Given the description of an element on the screen output the (x, y) to click on. 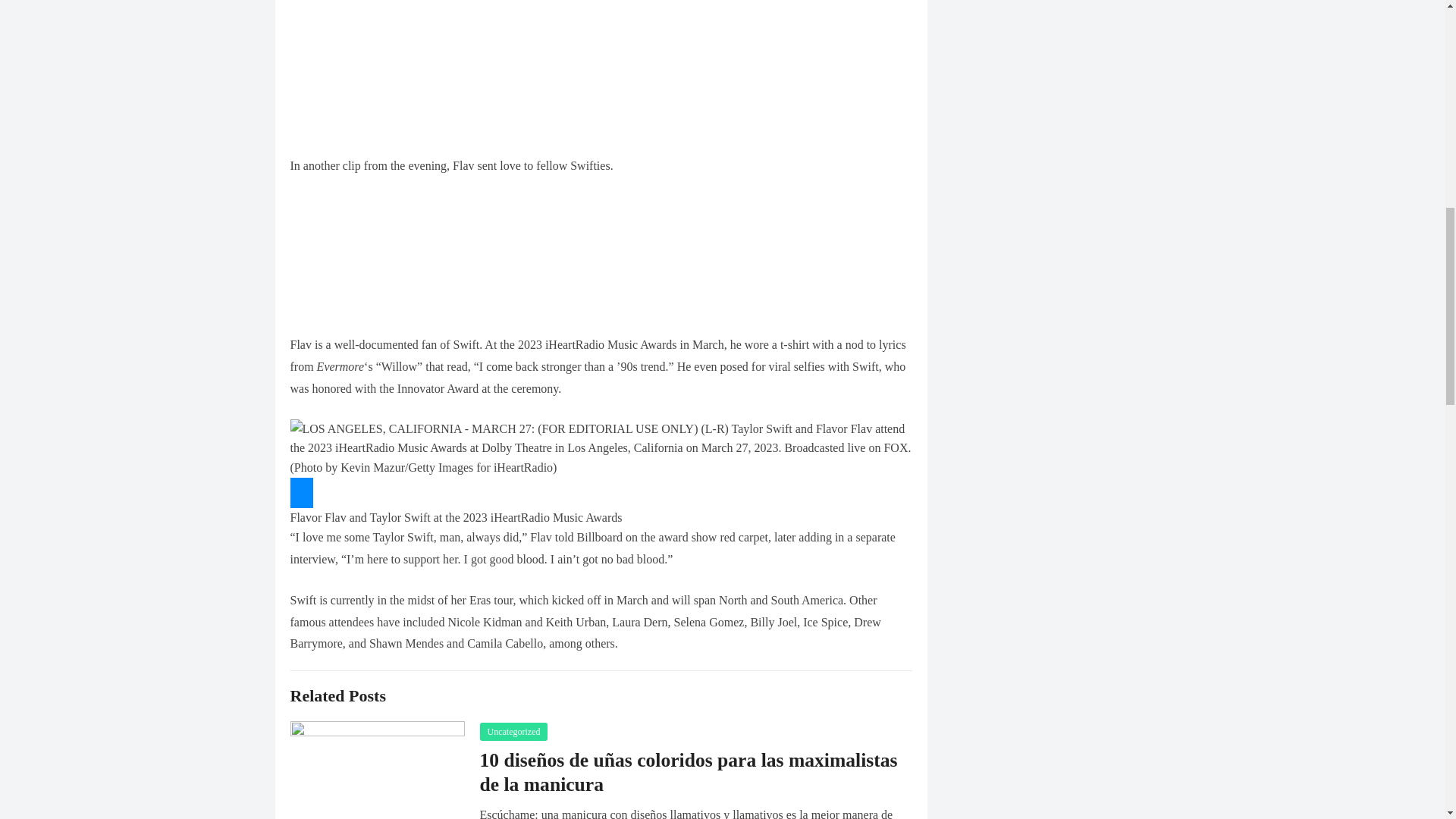
Uncategorized (513, 731)
Twitter Tweet (600, 73)
Twitter Tweet (600, 253)
2023 iHeartRadio Music Awards - Show (600, 448)
